Given the description of an element on the screen output the (x, y) to click on. 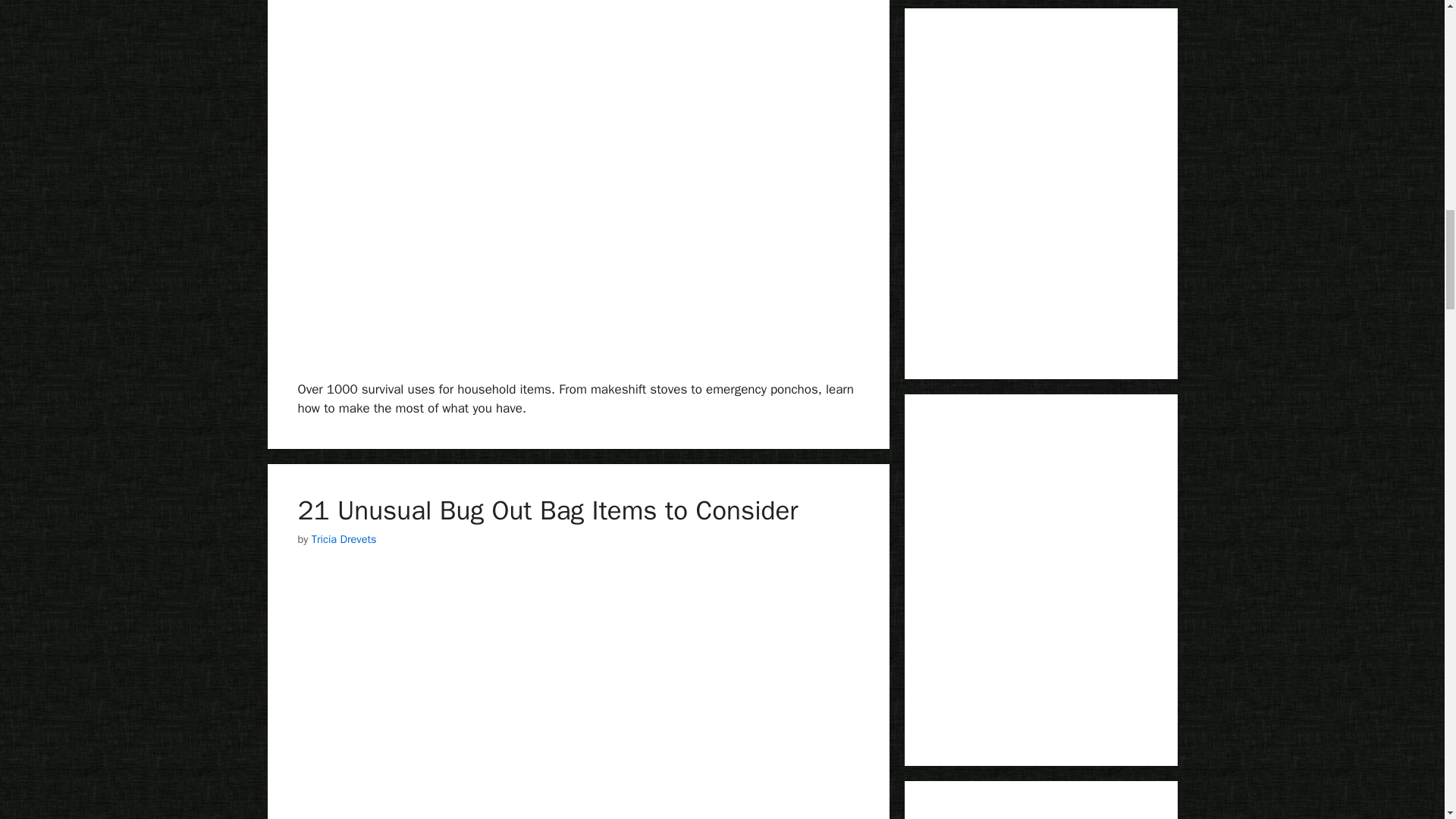
View all posts by Tricia Drevets (344, 539)
